Given the description of an element on the screen output the (x, y) to click on. 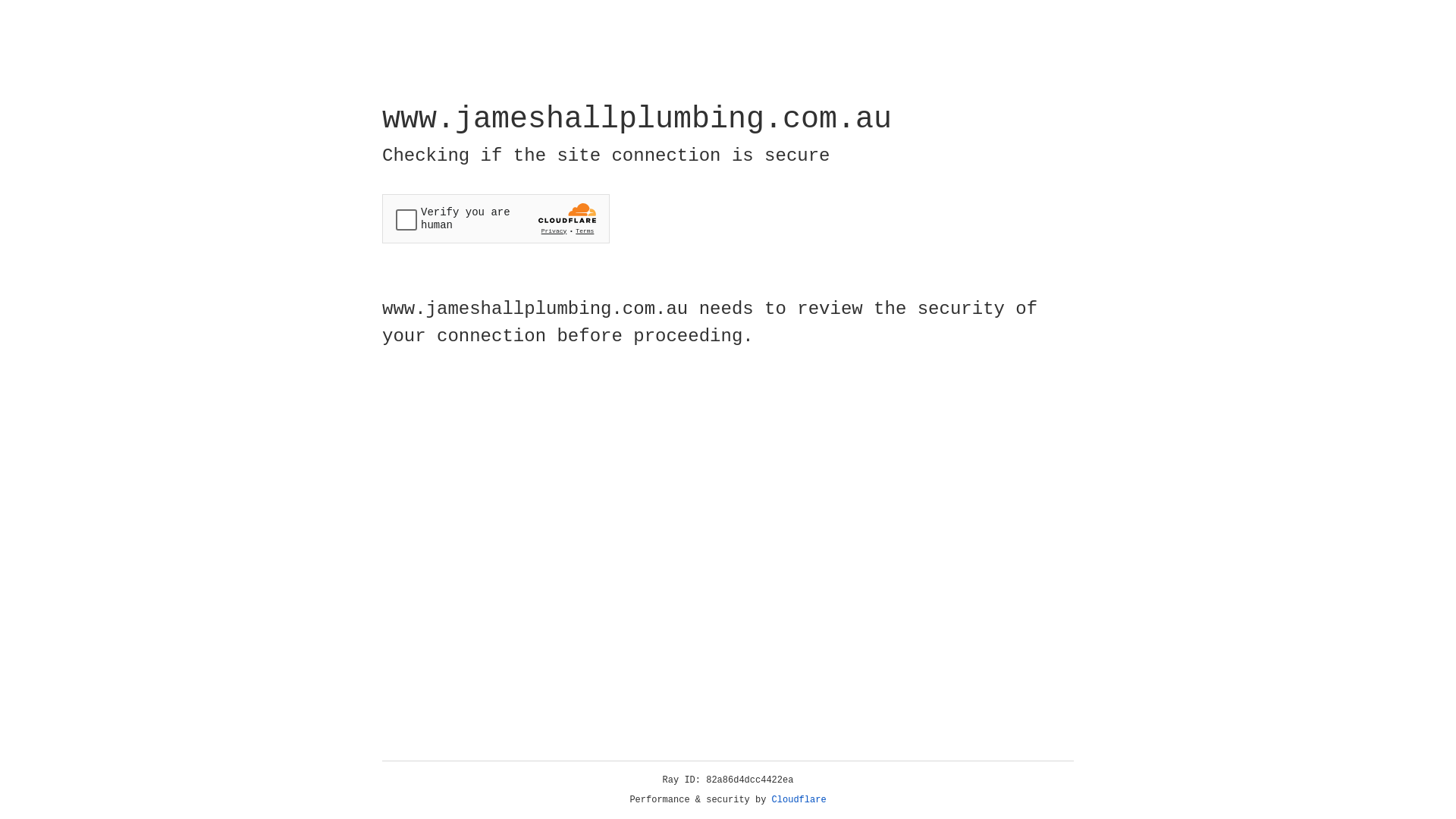
Widget containing a Cloudflare security challenge Element type: hover (495, 218)
Cloudflare Element type: text (798, 799)
